Given the description of an element on the screen output the (x, y) to click on. 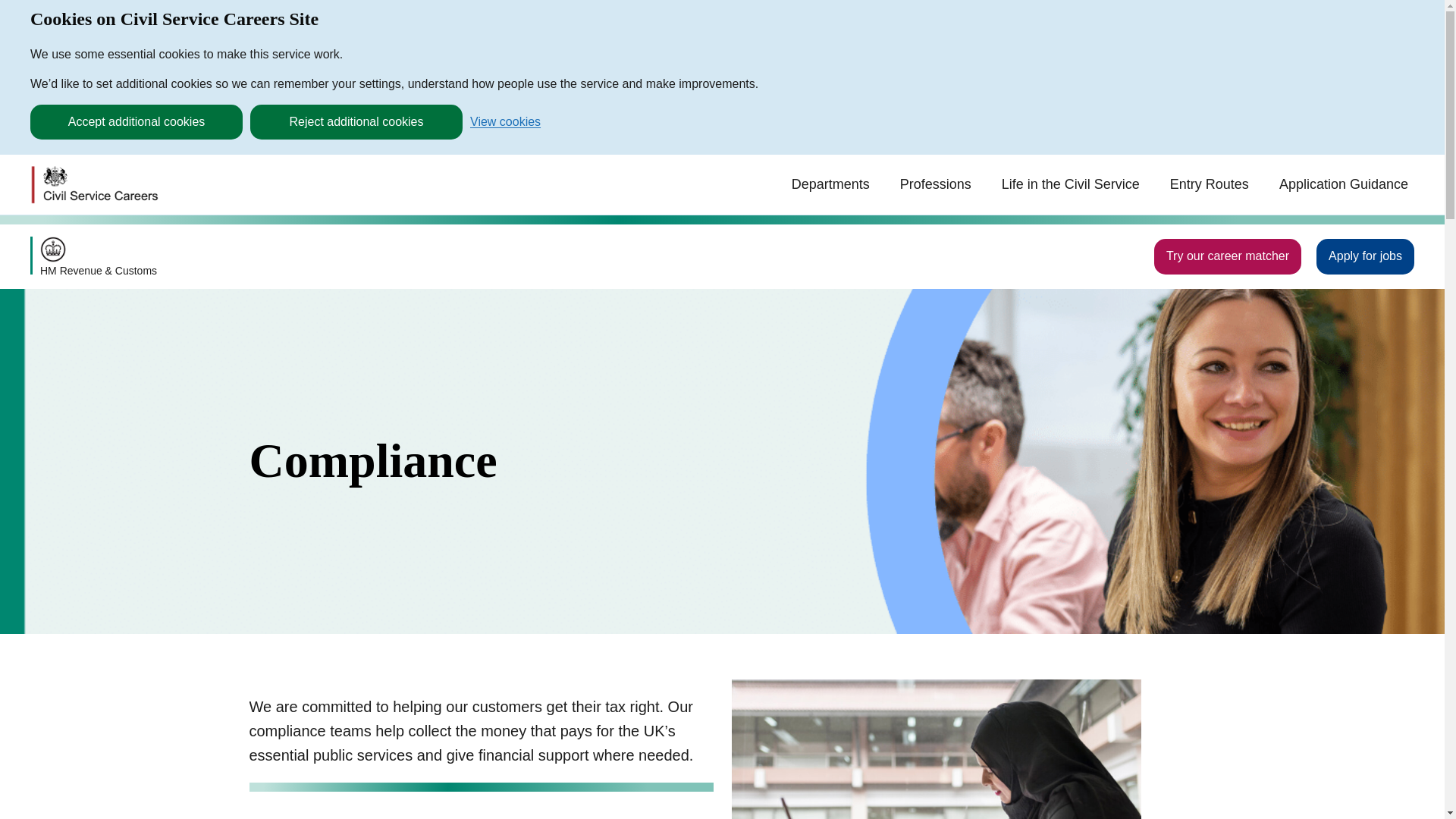
View cookies (505, 121)
CS Careers logo (94, 184)
Visit the Civil Service job site to find and apply for jobs (1364, 256)
Accept additional cookies (136, 121)
Departments (831, 184)
Professions (934, 184)
Entry Routes (1209, 184)
Reject additional cookies (356, 121)
Life in the Civil Service (1070, 184)
Application Guidance (1342, 184)
